Given the description of an element on the screen output the (x, y) to click on. 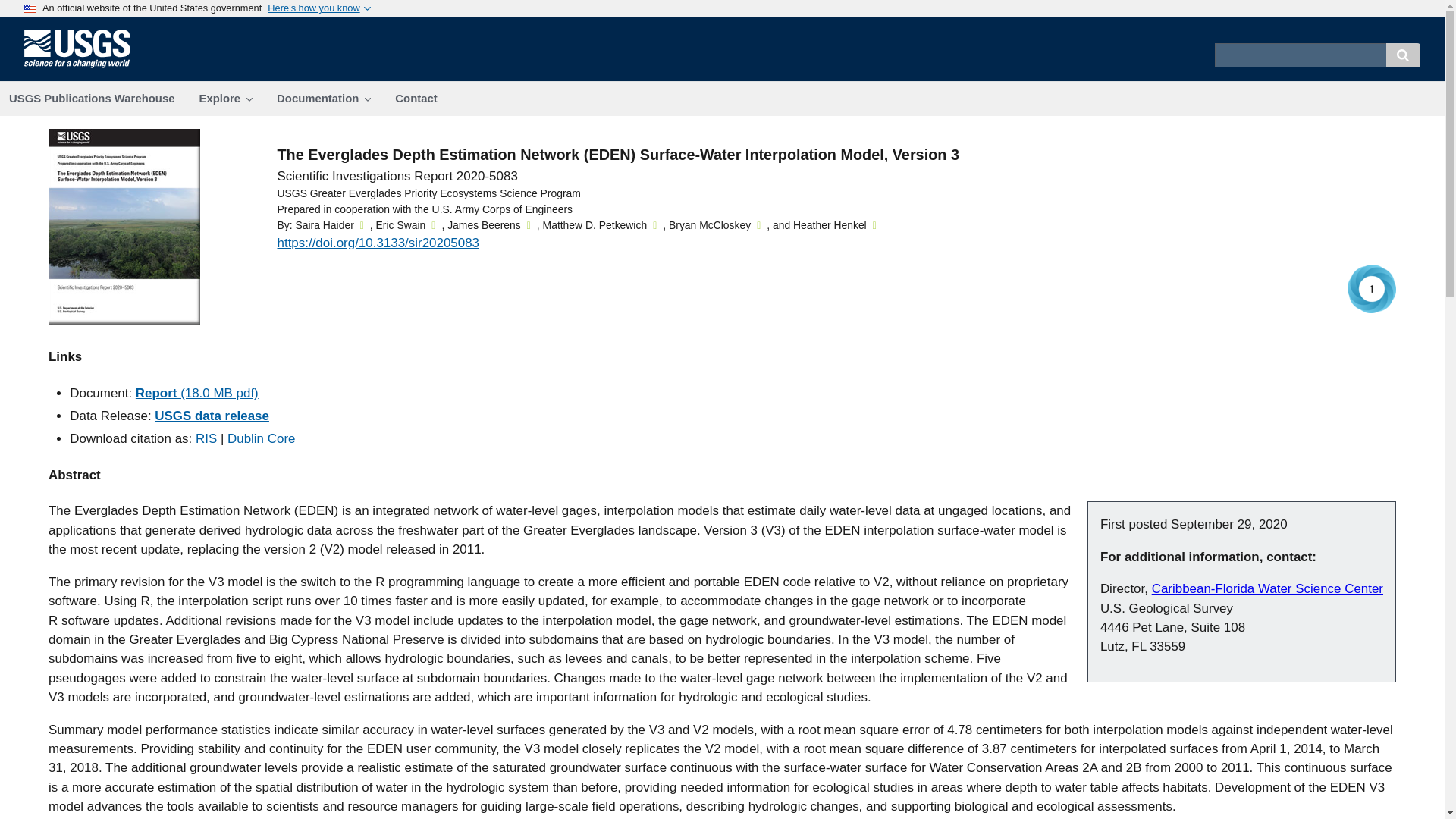
USGS data release (211, 415)
Main document link, right click to download or save as (124, 319)
Caribbean-Florida Water Science Center (1267, 588)
Home (83, 66)
USGS Publications Warehouse (93, 98)
Contact (415, 98)
 Data Release (211, 415)
Dublin Core (261, 438)
Documentation (323, 98)
Explore (225, 98)
RIS (205, 438)
